Given the description of an element on the screen output the (x, y) to click on. 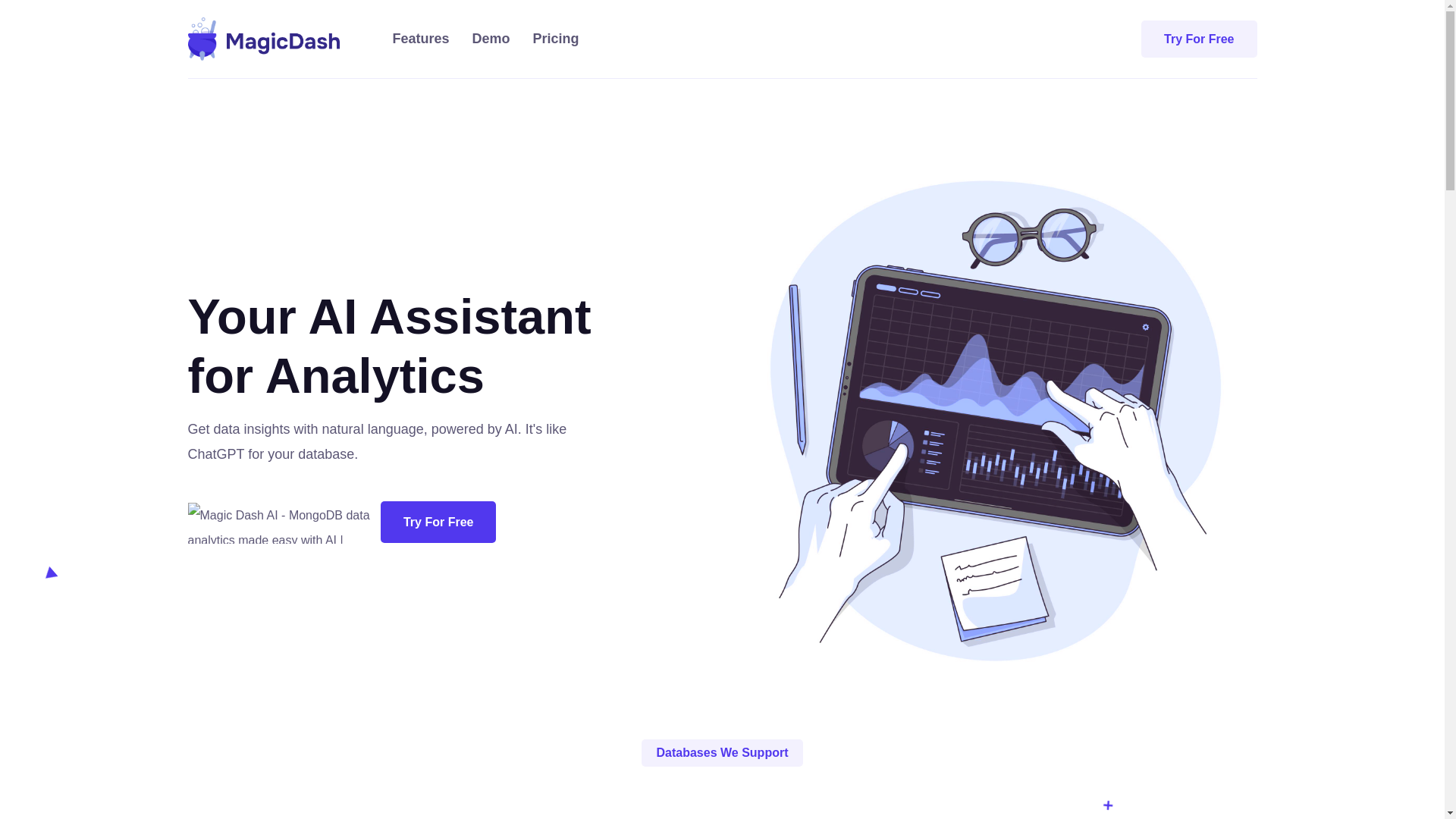
Try For Free (438, 521)
Demo (491, 38)
Features (421, 38)
Demo (491, 38)
Pricing (555, 38)
Try For Free (1198, 38)
Pricing (555, 38)
Features (421, 38)
